Given the description of an element on the screen output the (x, y) to click on. 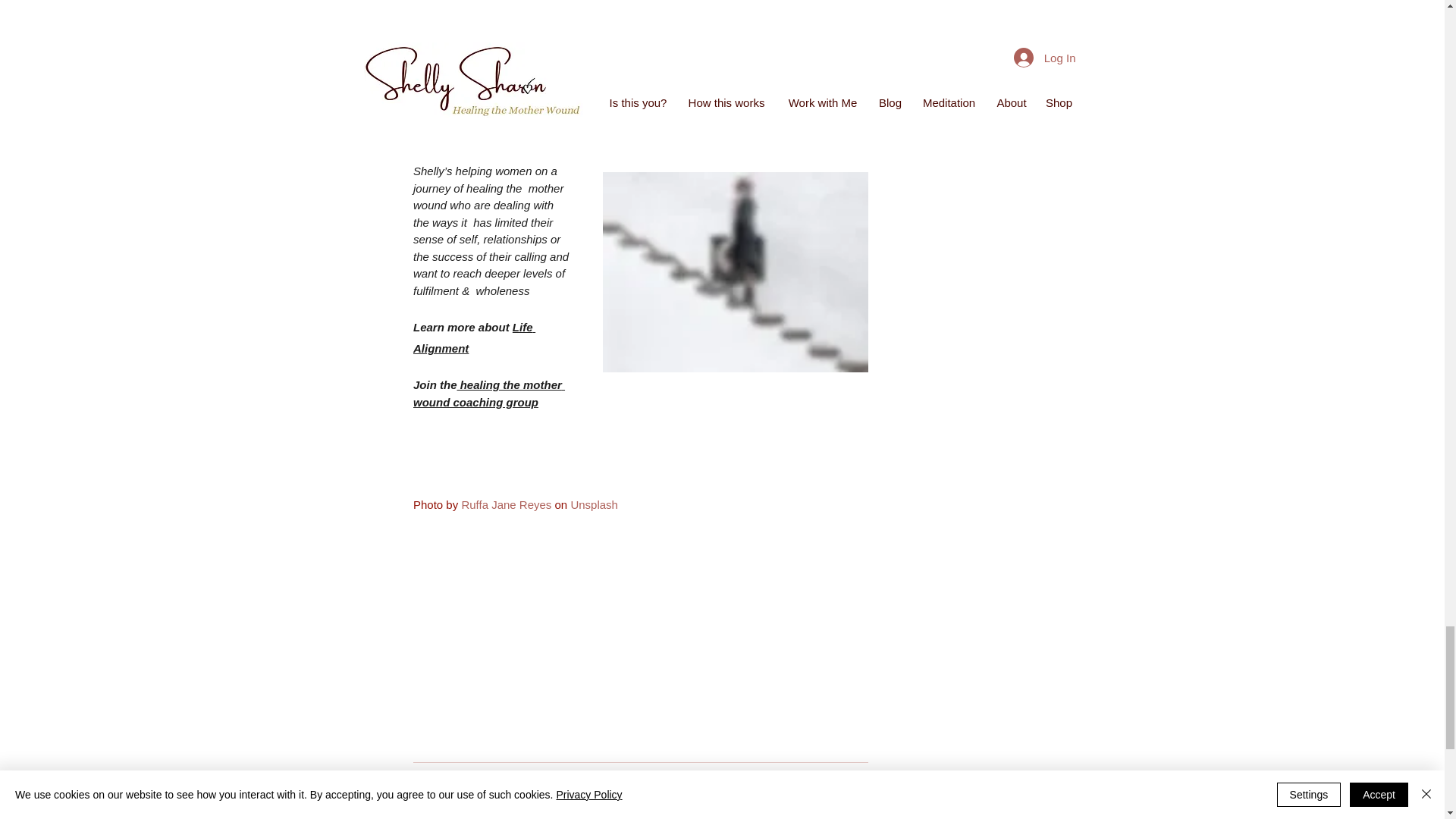
Ruffa Jane Reyes (506, 503)
Unsplash (593, 503)
 healing the mother wound coaching group (488, 393)
Life Alignment (473, 337)
SCHEDULE A FREE CALL (640, 60)
